Given the description of an element on the screen output the (x, y) to click on. 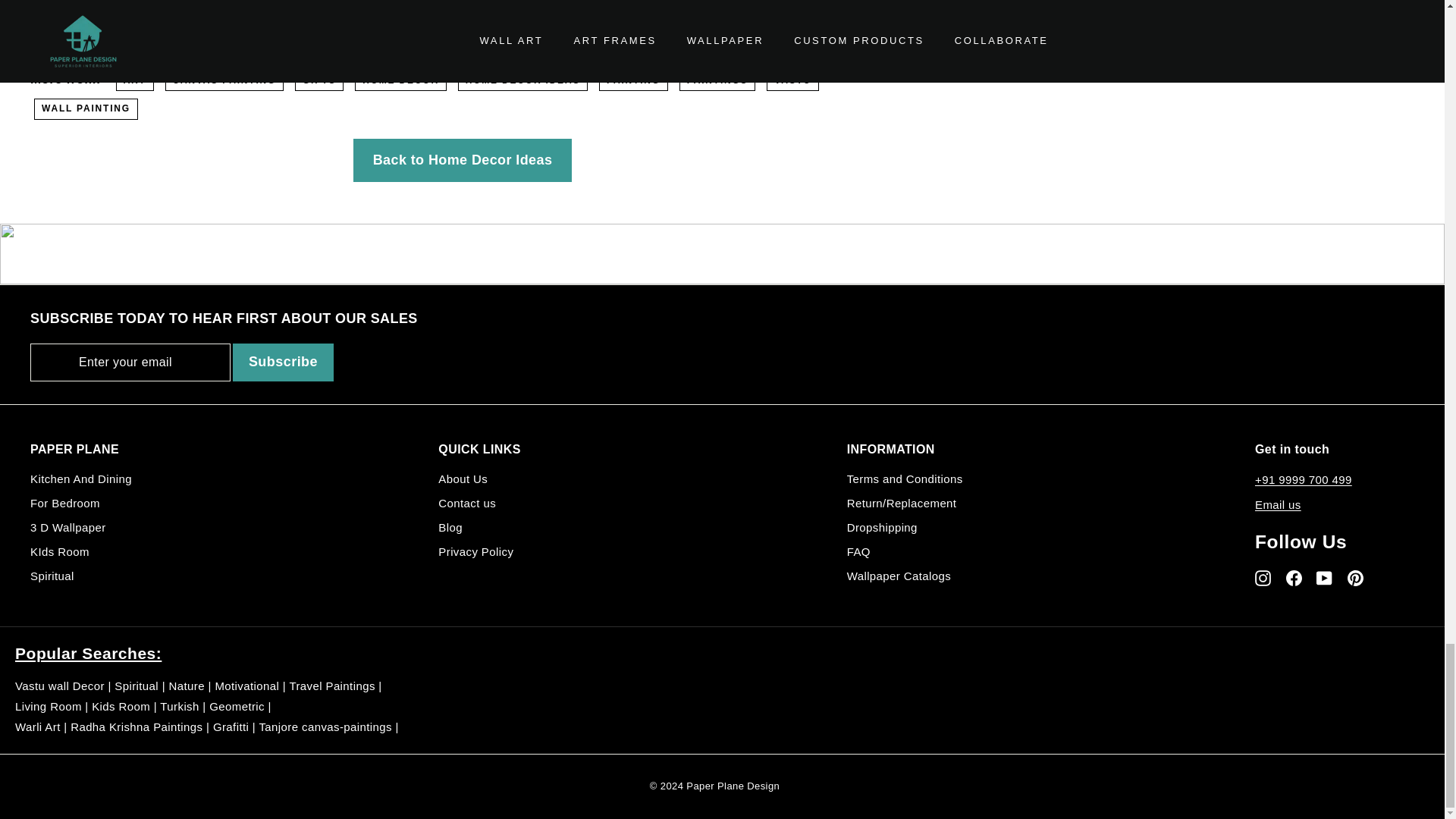
instagram (1263, 578)
Paper Plane Design on Instagram (1263, 577)
Paper Plane Design on Facebook (1293, 577)
Paper Plane Design on YouTube (1324, 577)
Paper Plane Design on Pinterest (1355, 577)
